Given the description of an element on the screen output the (x, y) to click on. 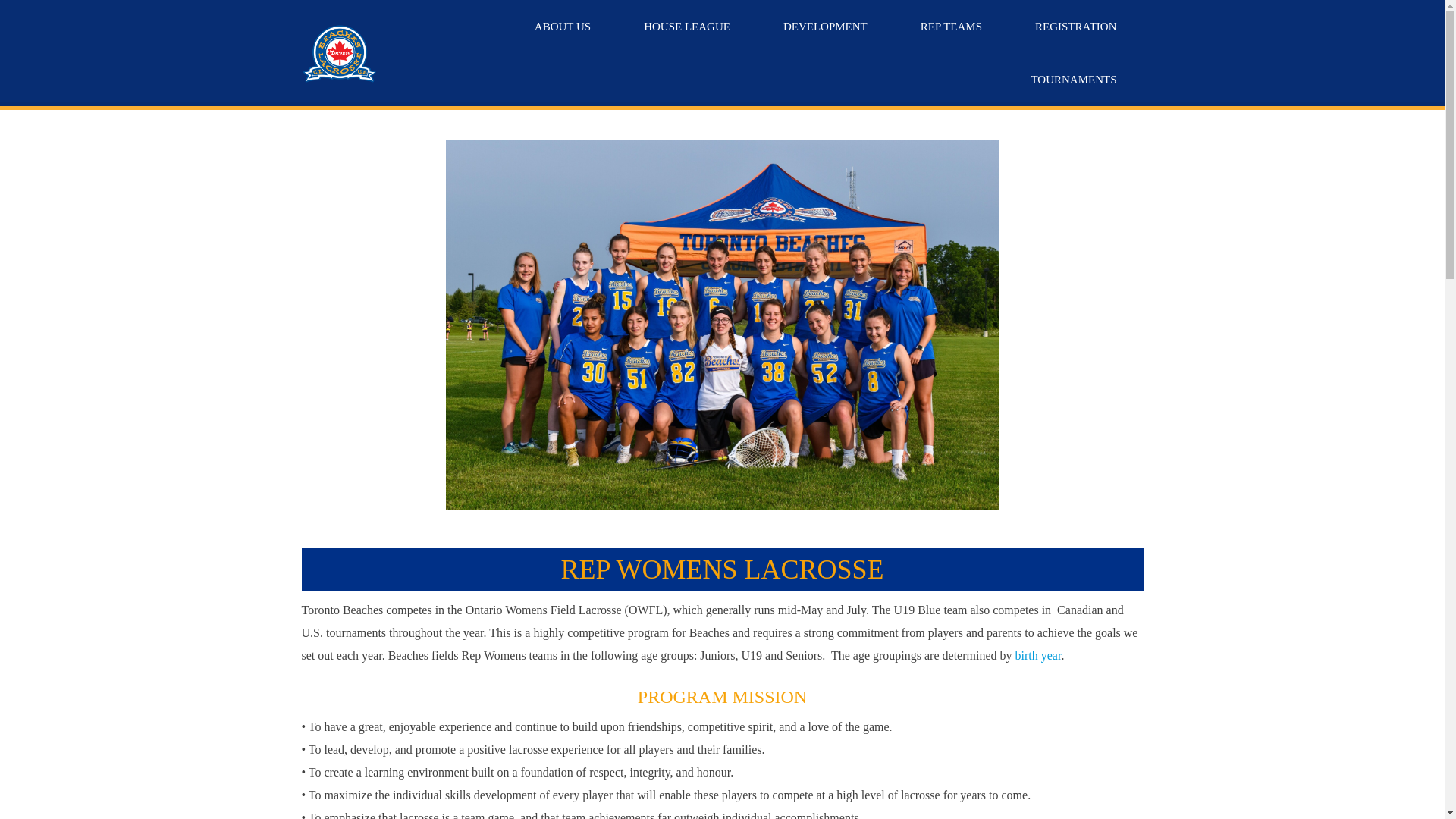
Home (339, 53)
DEVELOPMENT (825, 26)
HOUSE LEAGUE (687, 26)
ABOUT US (562, 26)
